Given the description of an element on the screen output the (x, y) to click on. 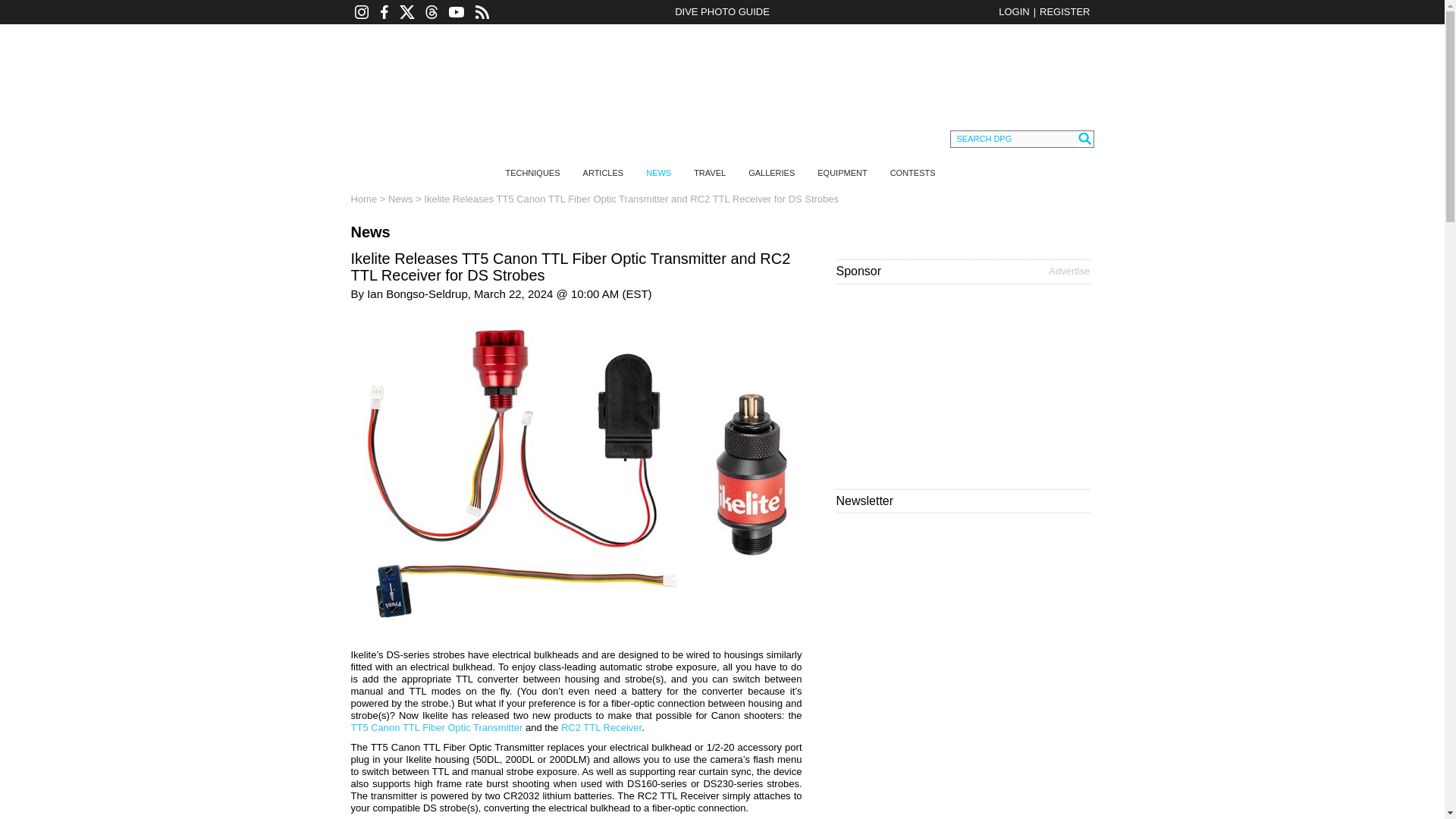
LOGIN (1013, 11)
GALLERIES (771, 172)
SEARCH DPG (1013, 139)
DIVE PHOTO GUIDE (721, 12)
EQUIPMENT (841, 172)
CONTESTS (912, 172)
RC2 TTL Receiver (601, 727)
News (400, 198)
TECHNIQUES (532, 172)
ARTICLES (603, 172)
